Given the description of an element on the screen output the (x, y) to click on. 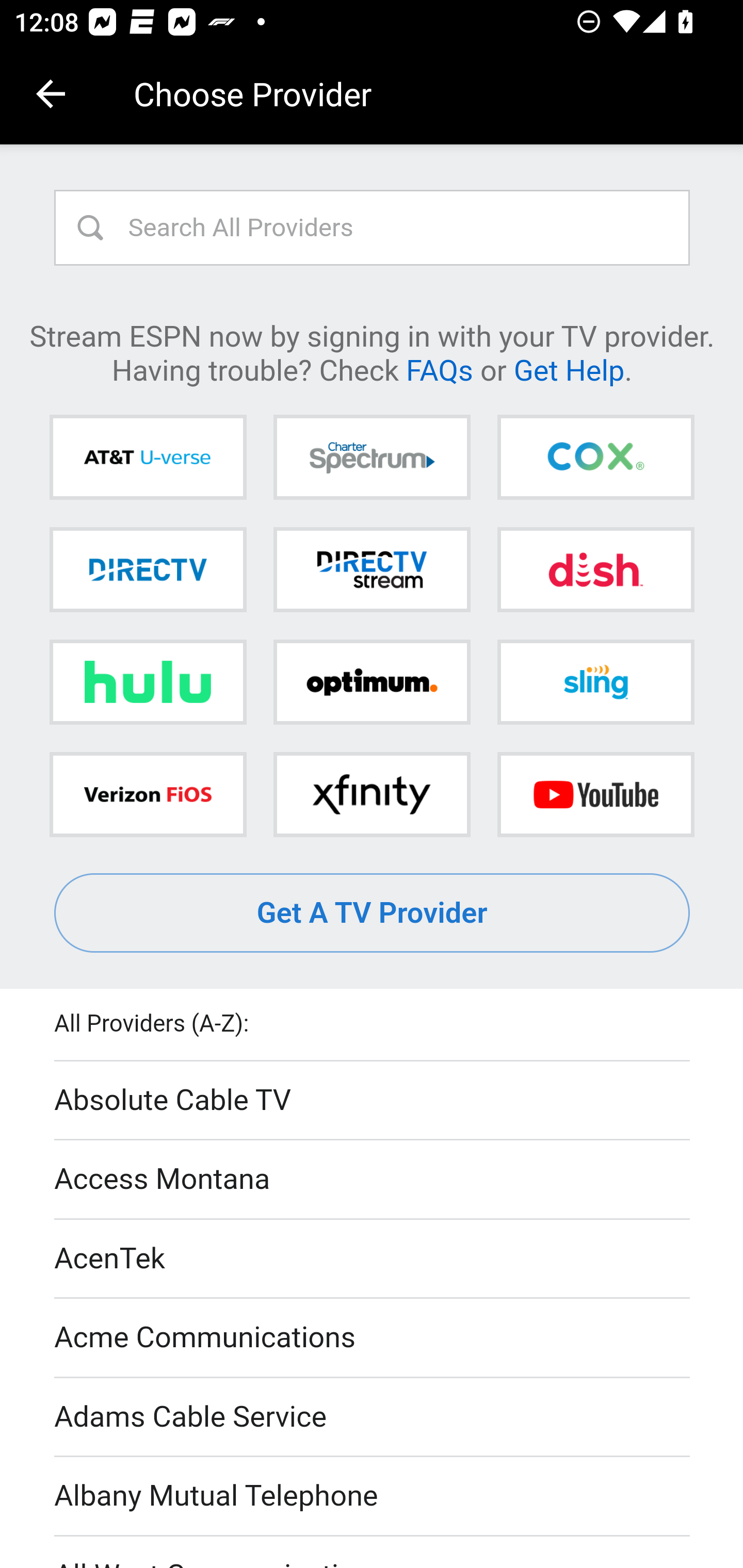
Navigate up (50, 93)
FAQs (438, 369)
Get Help (569, 369)
AT&T U-verse (147, 457)
Charter Spectrum (371, 457)
Cox (595, 457)
DIRECTV (147, 568)
DIRECTV STREAM (371, 568)
DISH (595, 568)
Hulu (147, 681)
Optimum (371, 681)
Sling TV (595, 681)
Verizon FiOS (147, 793)
Xfinity (371, 793)
YouTube TV (595, 793)
Get A TV Provider (372, 912)
Absolute Cable TV (372, 1100)
Access Montana (372, 1178)
AcenTek (372, 1258)
Acme Communications (372, 1338)
Adams Cable Service (372, 1417)
Albany Mutual Telephone (372, 1497)
